Given the description of an element on the screen output the (x, y) to click on. 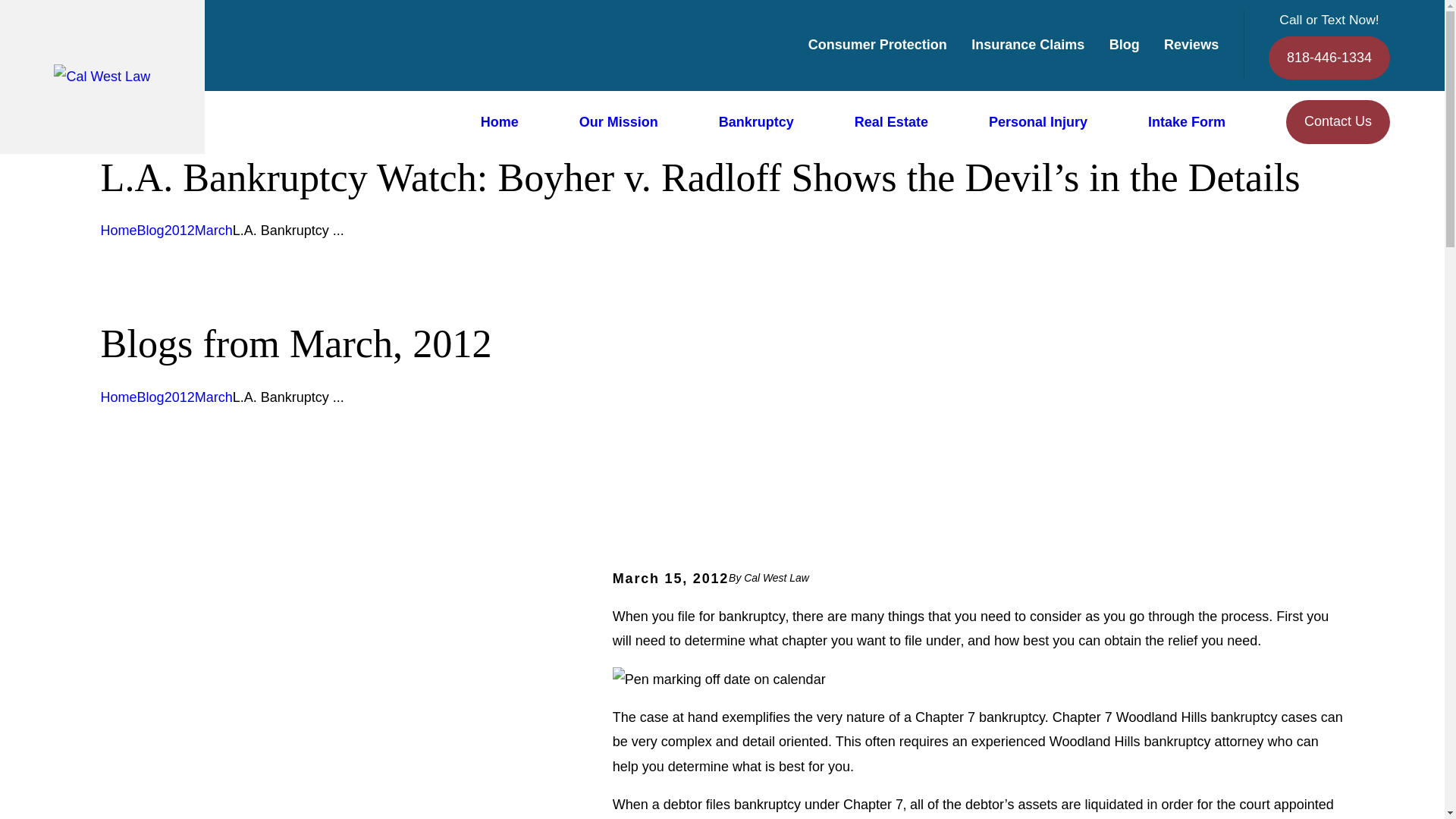
Consumer Protection (877, 44)
Home (499, 122)
Insurance Claims (1027, 44)
Personal Injury (1037, 122)
Go Home (118, 230)
Our Mission (618, 122)
Home (101, 76)
Reviews (1190, 44)
Real Estate (891, 122)
Bankruptcy (756, 122)
Intake Form (1186, 122)
Blog (1124, 44)
818-446-1334 (1329, 58)
Go Home (118, 396)
